Given the description of an element on the screen output the (x, y) to click on. 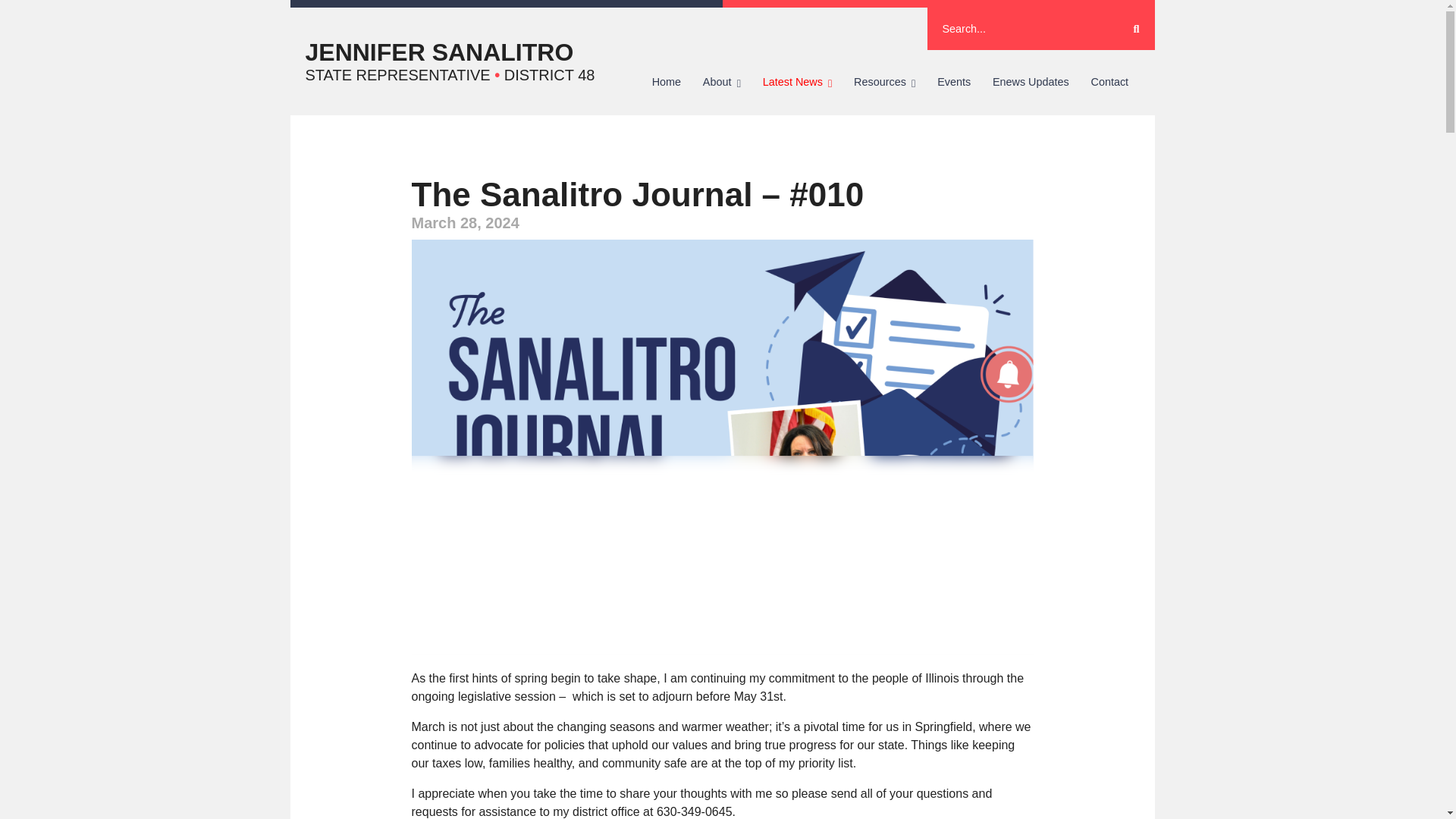
Enews Updates (1030, 82)
Resources (884, 82)
Contact (1109, 82)
About (721, 82)
Events (953, 82)
Home (665, 82)
Latest News (797, 82)
